Given the description of an element on the screen output the (x, y) to click on. 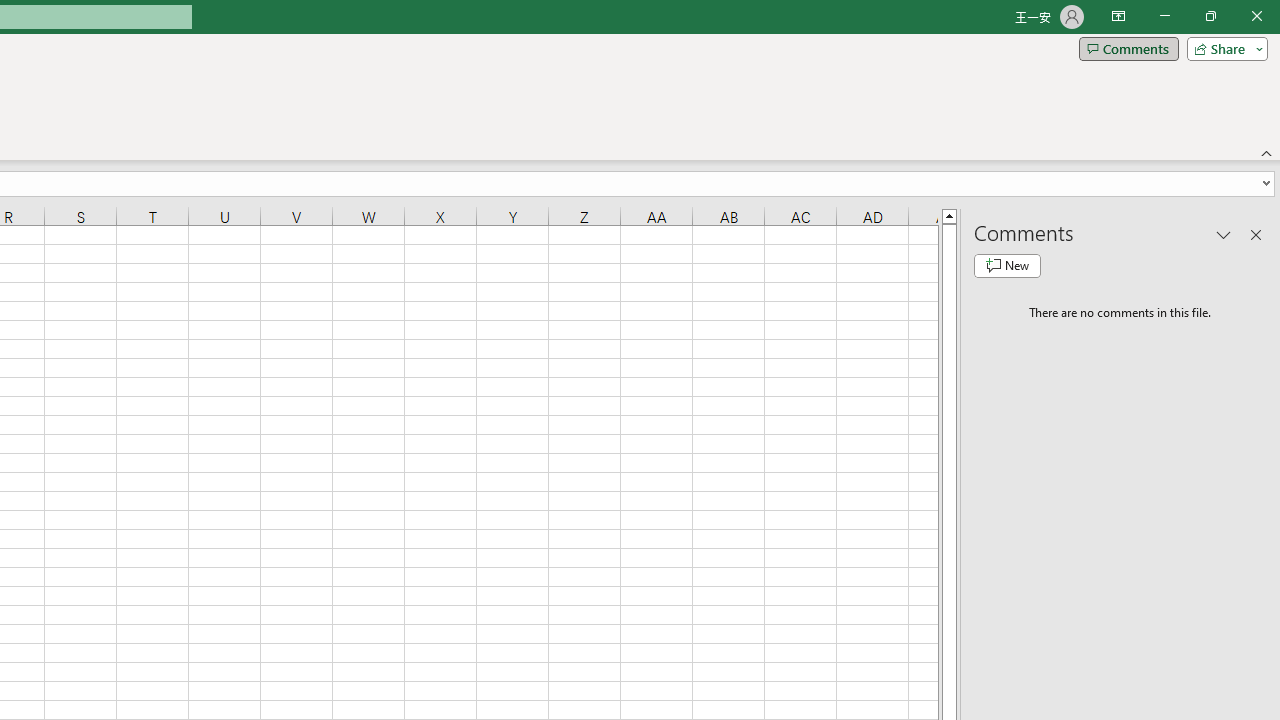
New comment (1007, 265)
